Given the description of an element on the screen output the (x, y) to click on. 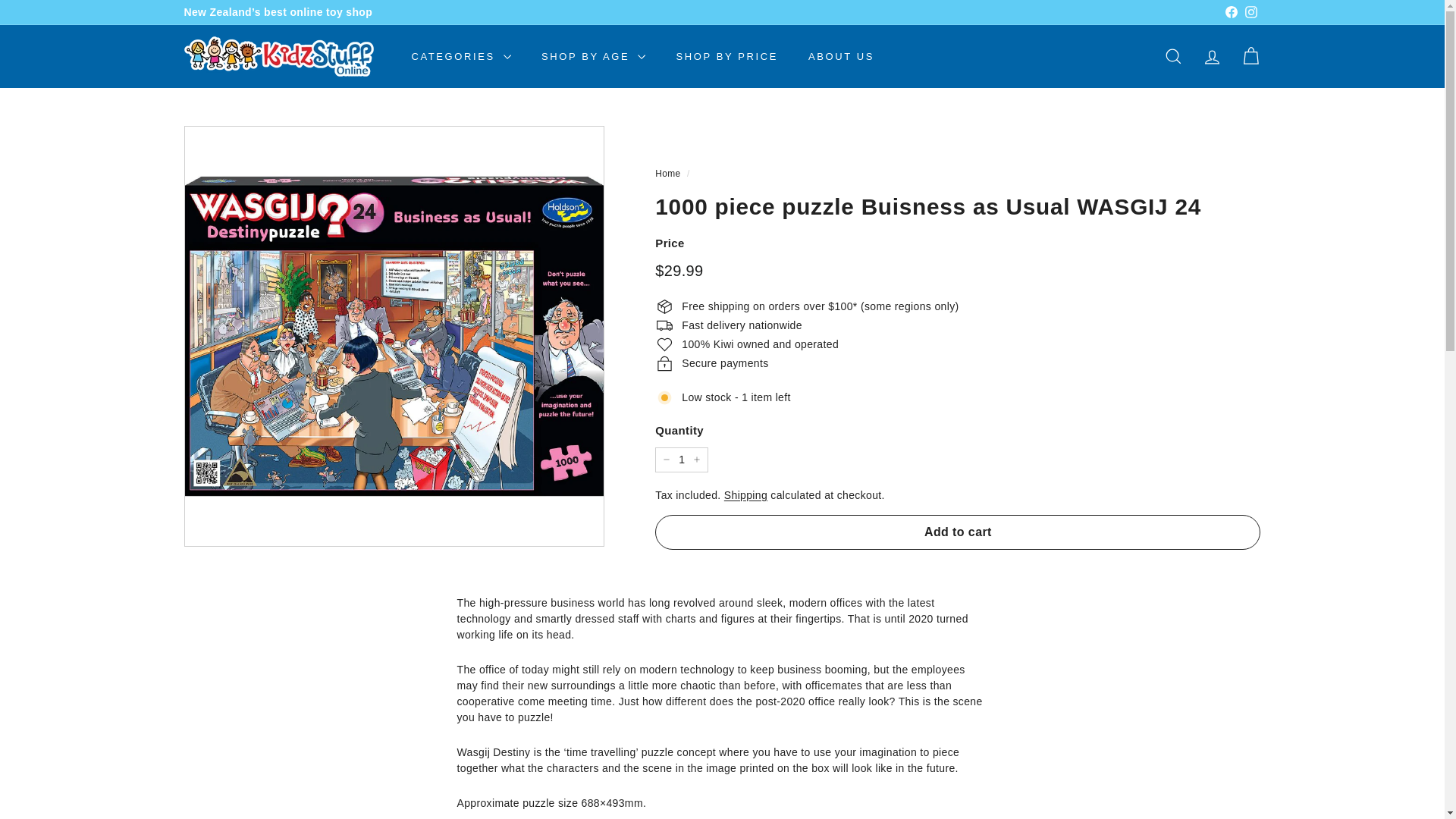
Instagram (1250, 12)
Back to the frontpage (667, 173)
1 (681, 459)
Kidzstuffonline on Facebook (1230, 12)
Facebook (1230, 12)
Kidzstuffonline on Instagram (1250, 12)
